Given the description of an element on the screen output the (x, y) to click on. 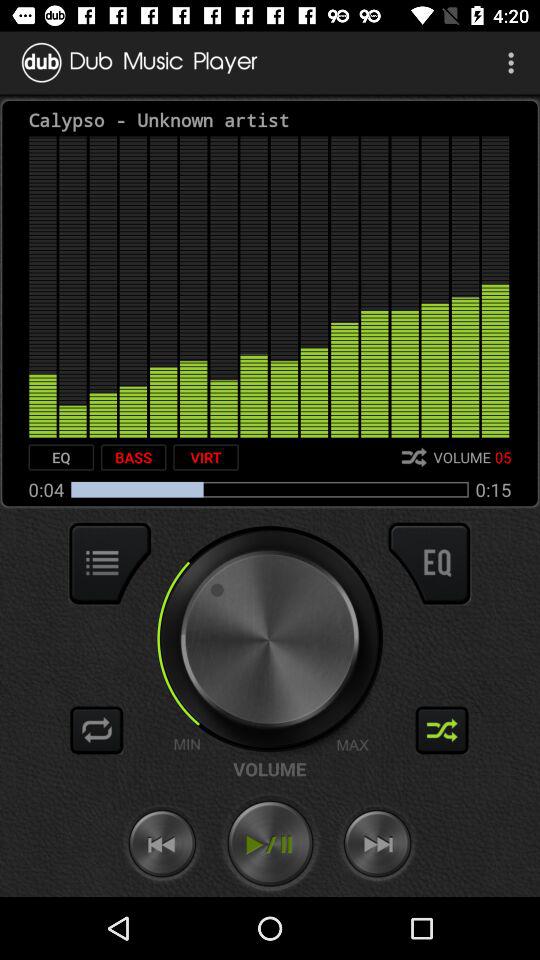
select the  virt  icon (205, 457)
